Given the description of an element on the screen output the (x, y) to click on. 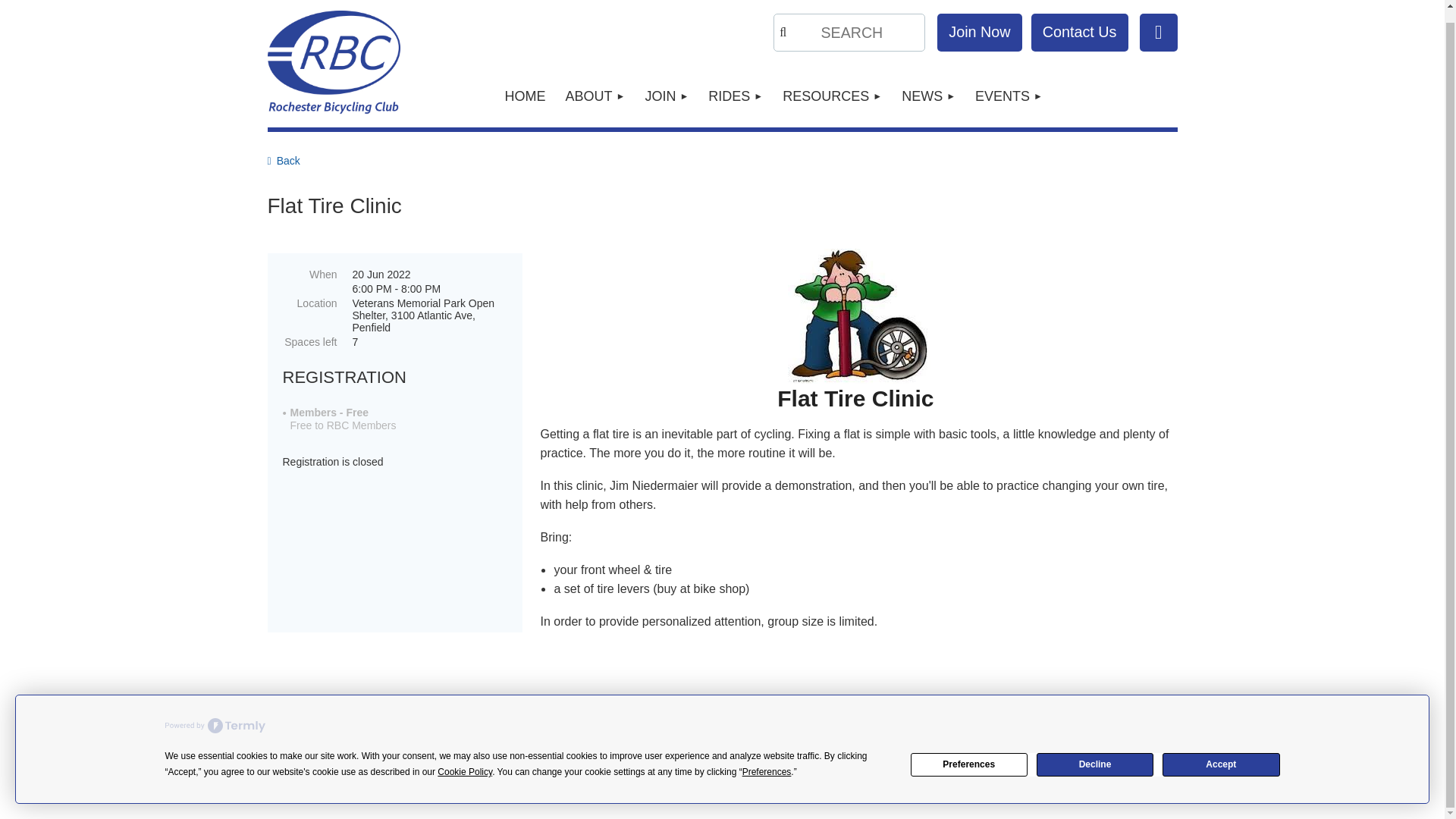
Preferences (969, 751)
Decline (1094, 751)
Accept (1220, 751)
